Given the description of an element on the screen output the (x, y) to click on. 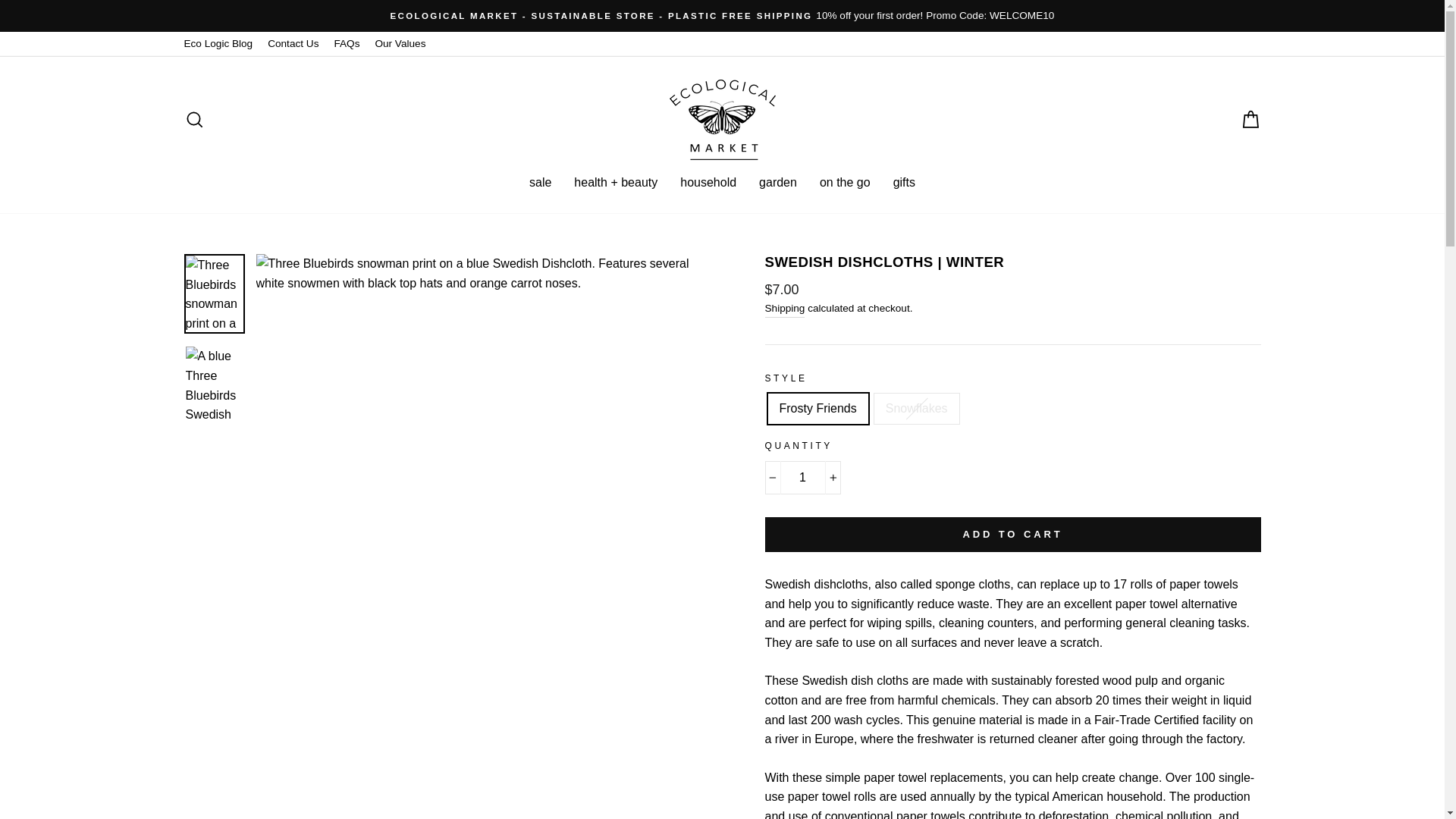
1 (802, 477)
